Given the description of an element on the screen output the (x, y) to click on. 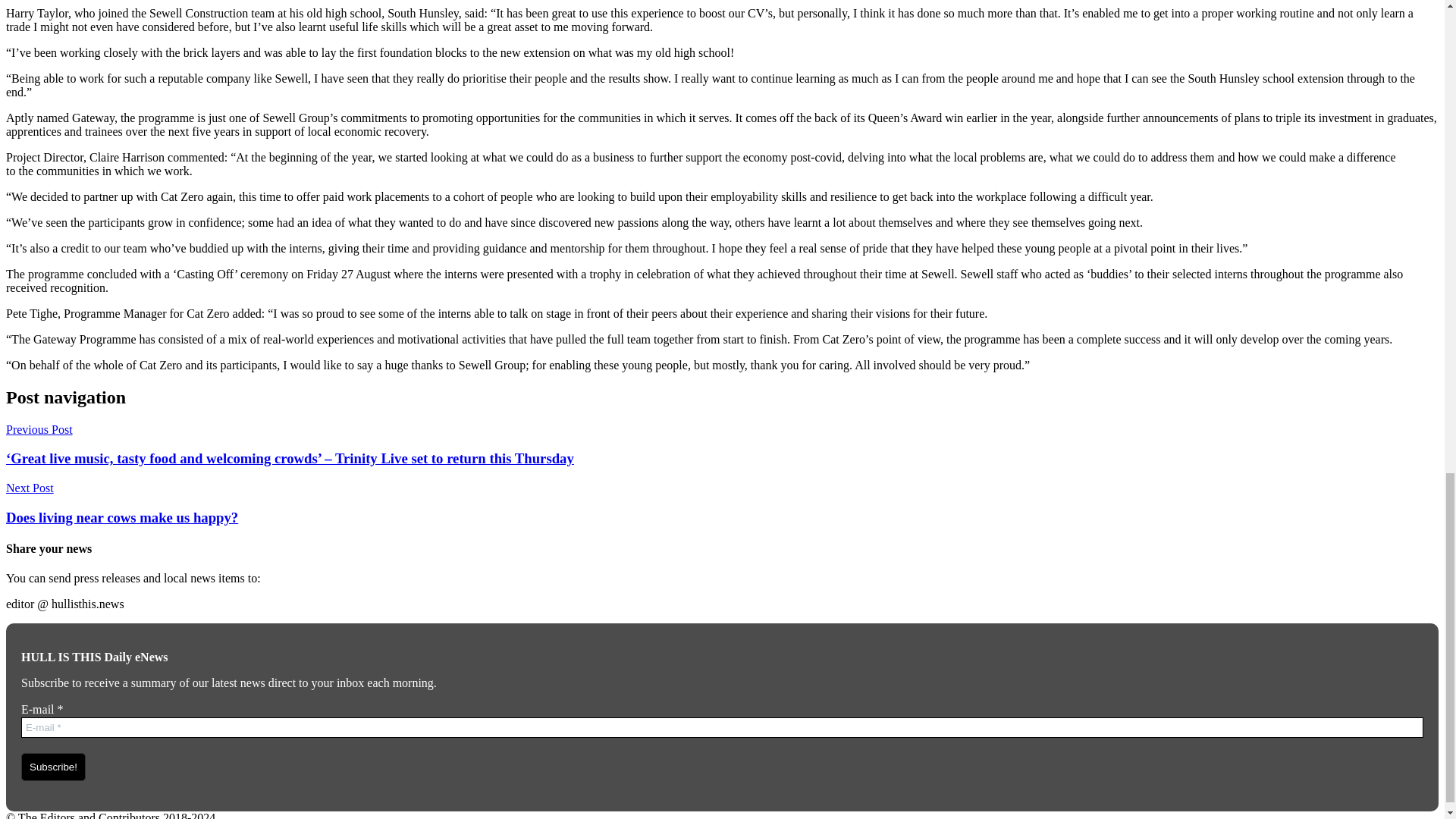
Subscribe! (53, 766)
Subscribe! (53, 766)
E-mail (722, 727)
